Given the description of an element on the screen output the (x, y) to click on. 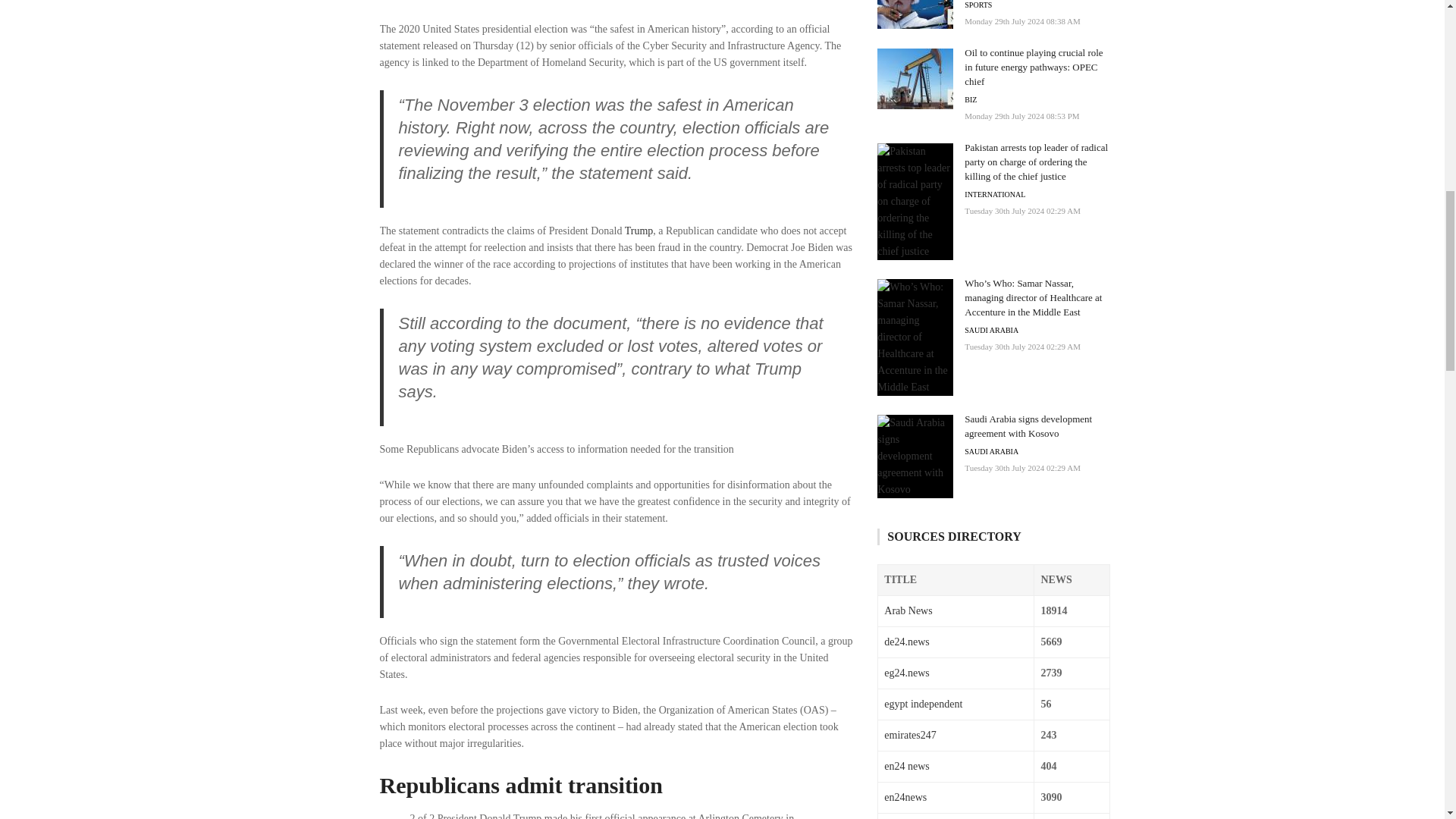
Trump (638, 230)
